Given the description of an element on the screen output the (x, y) to click on. 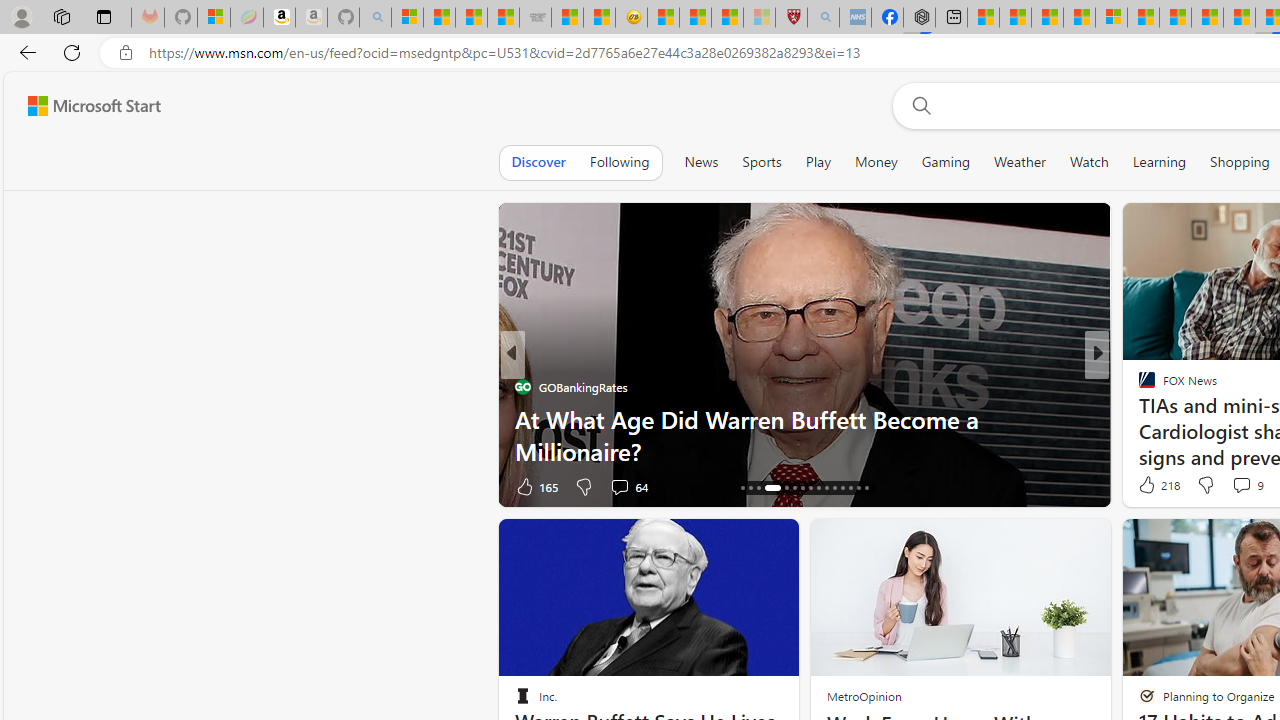
AutomationID: tab-24 (818, 487)
AutomationID: tab-19 (765, 487)
AutomationID: tab-29 (857, 487)
AutomationID: tab-22 (801, 487)
452 Like (1151, 486)
These 3 Stocks Pay You More Than 5% to Own Them (804, 450)
AutomationID: tab-27 (842, 487)
HuffPost UK (1138, 386)
